Given the description of an element on the screen output the (x, y) to click on. 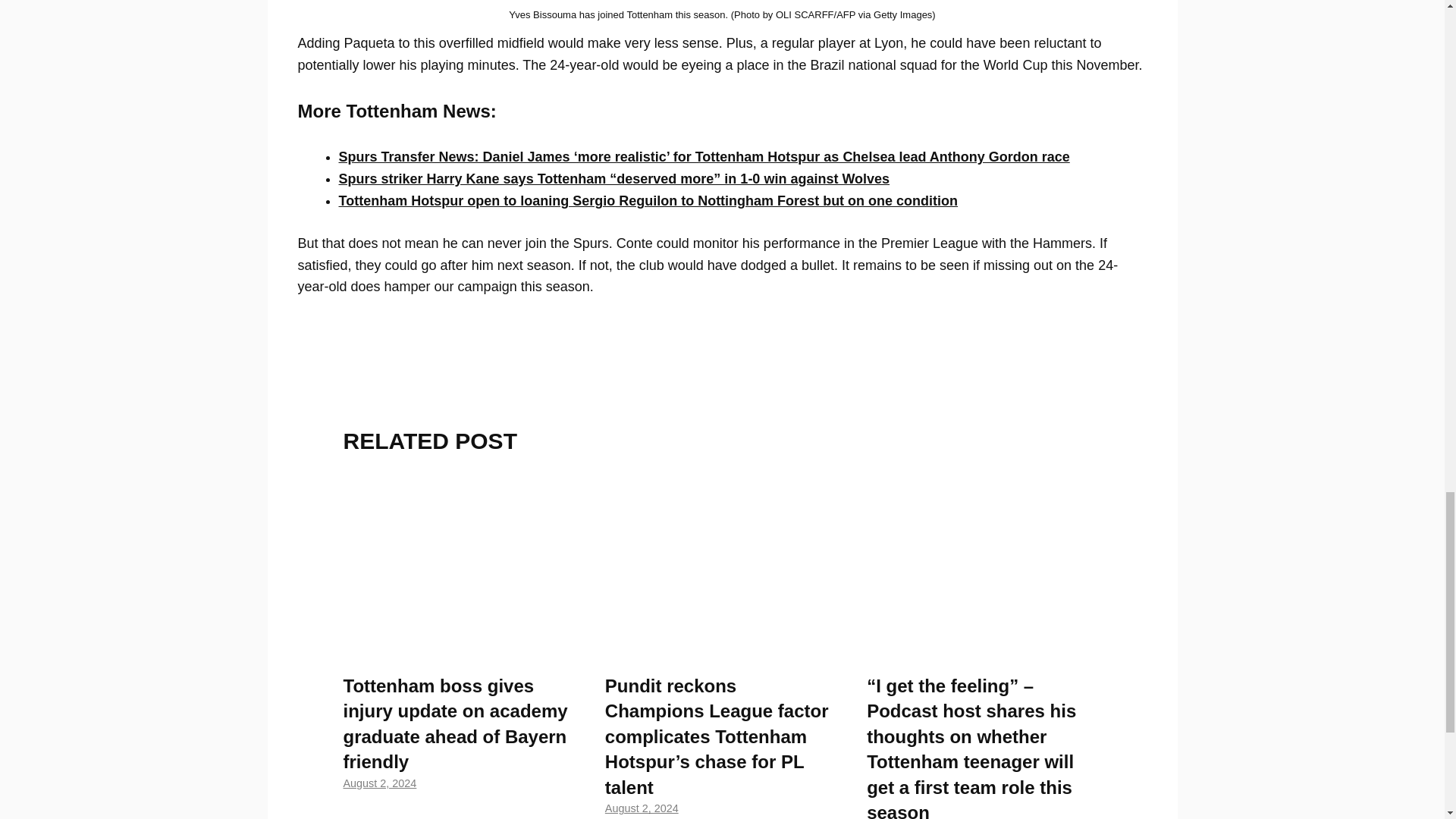
1:00 pm (379, 783)
12:00 pm (641, 808)
